Given the description of an element on the screen output the (x, y) to click on. 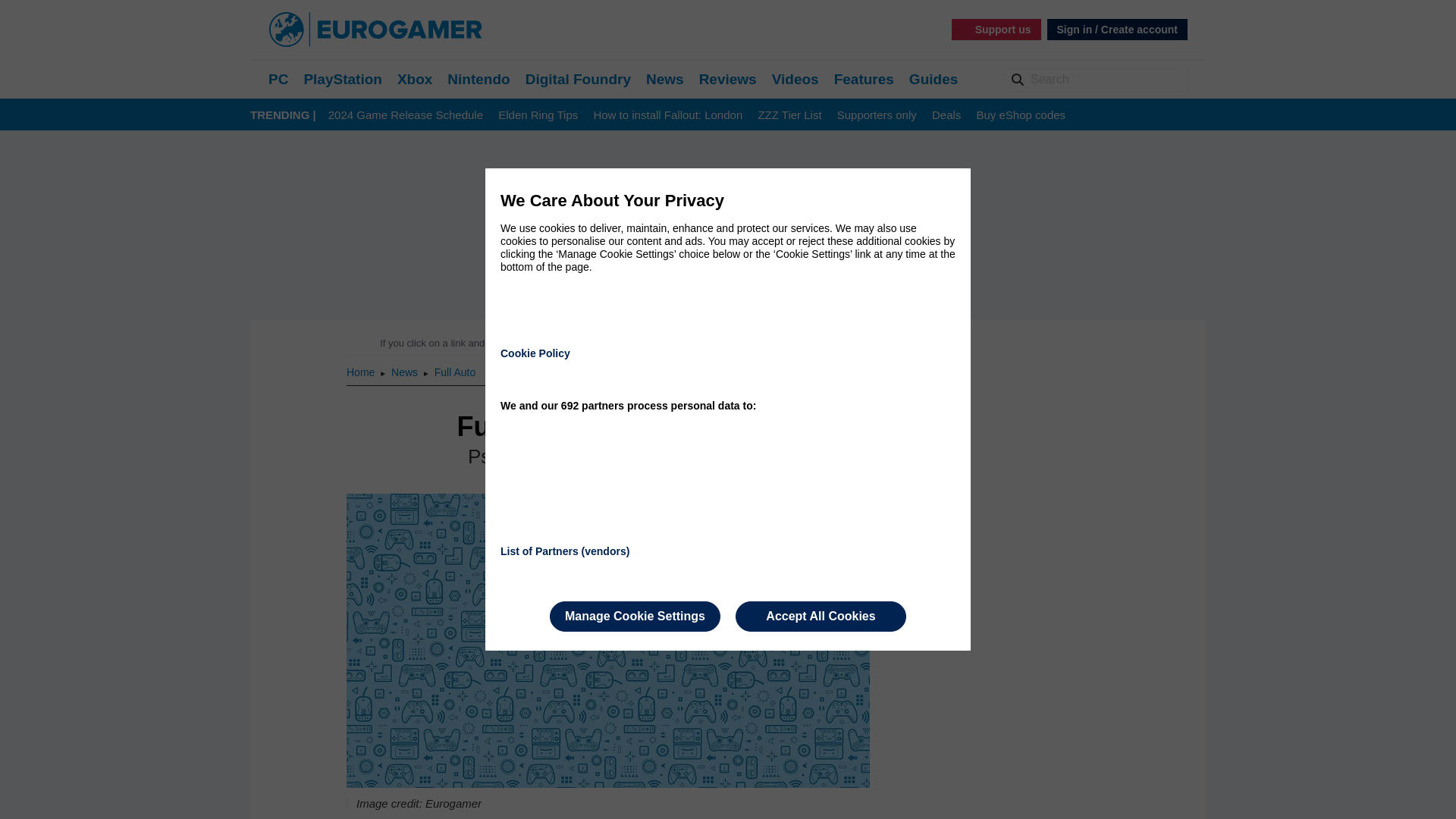
ZZZ Tier List (789, 114)
How to install Fallout: London (667, 114)
Digital Foundry (577, 78)
PlayStation (341, 78)
Nintendo (477, 78)
Supporters only (877, 114)
Nintendo (477, 78)
News (405, 372)
Videos (794, 78)
News (405, 372)
2024 Game Release Schedule (406, 114)
Guides (933, 78)
Home (361, 372)
PlayStation (341, 78)
Home (361, 372)
